Given the description of an element on the screen output the (x, y) to click on. 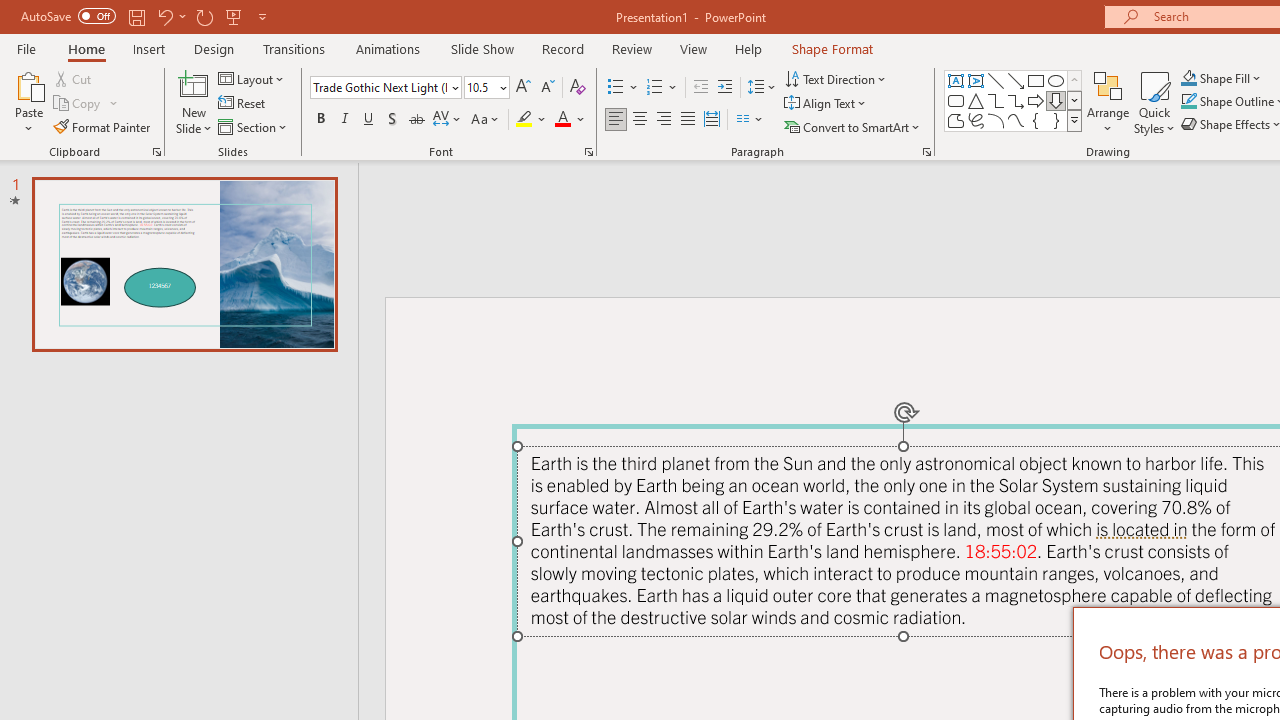
Center (639, 119)
File Tab (26, 48)
Freeform: Shape (955, 120)
Transitions (294, 48)
Font Color Red (562, 119)
Paragraph... (926, 151)
Design (214, 48)
View (693, 48)
Office Clipboard... (156, 151)
Numbering (661, 87)
AutomationID: ShapesInsertGallery (1014, 100)
Bold (320, 119)
Rectangle: Rounded Corners (955, 100)
Layout (252, 78)
